Given the description of an element on the screen output the (x, y) to click on. 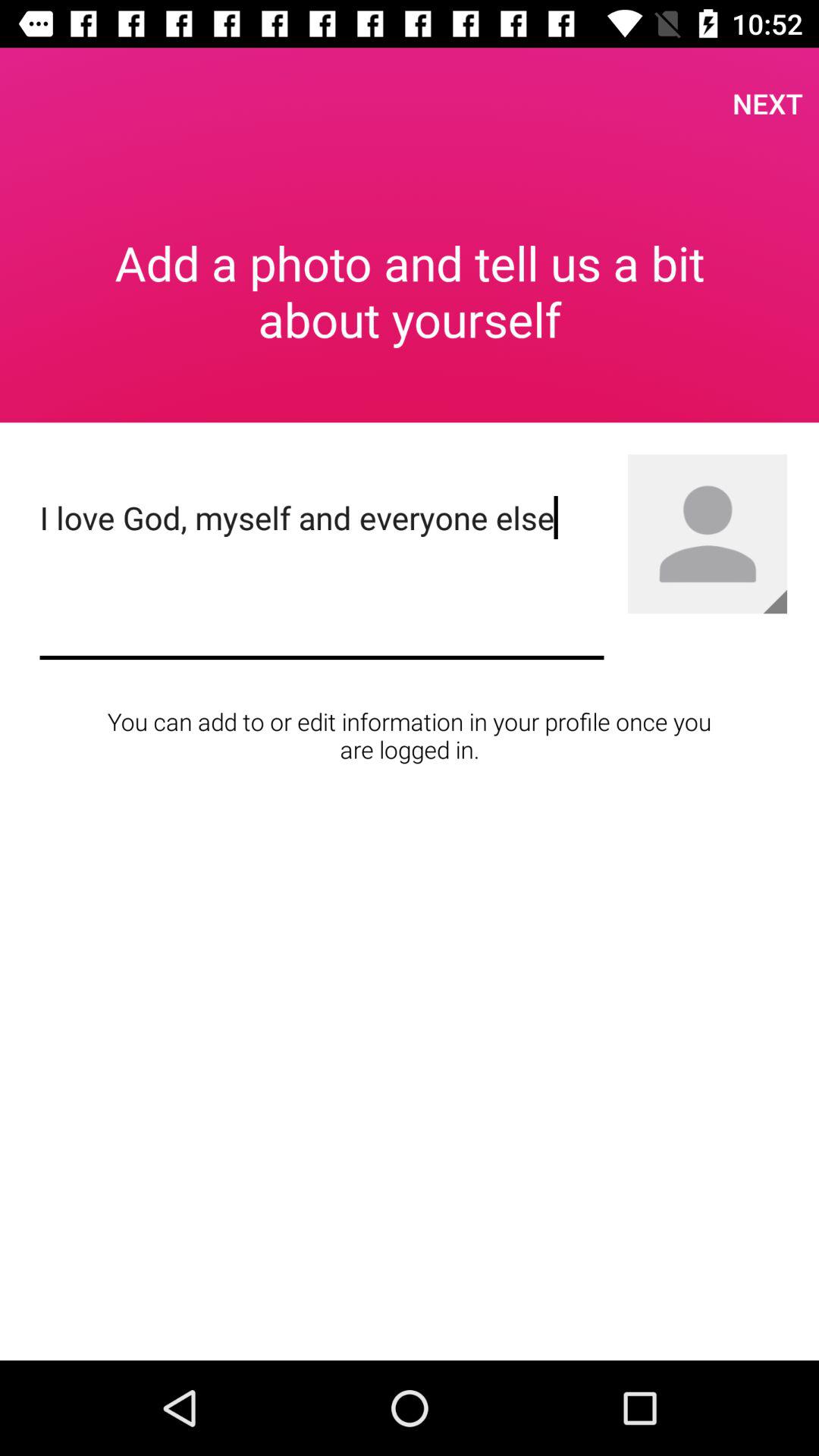
this will allow you to set your avatar image (707, 533)
